Given the description of an element on the screen output the (x, y) to click on. 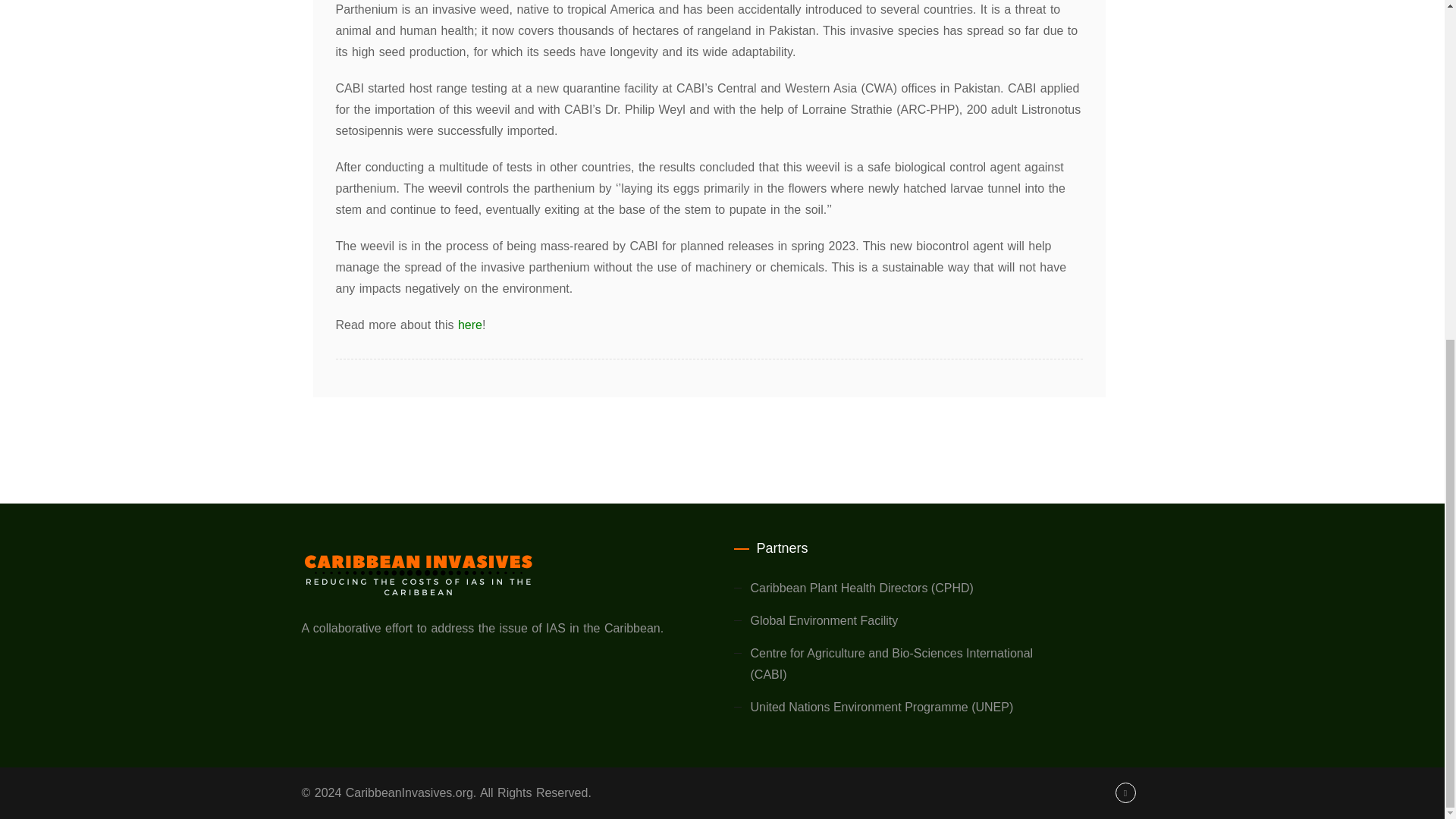
Global Environment Facility (824, 620)
here (469, 324)
